Given the description of an element on the screen output the (x, y) to click on. 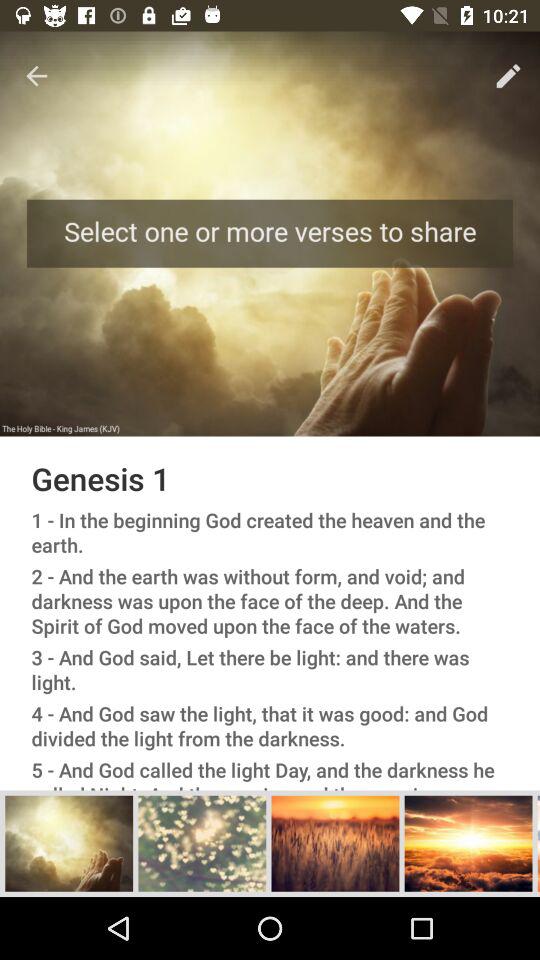
to share this picture (468, 843)
